Given the description of an element on the screen output the (x, y) to click on. 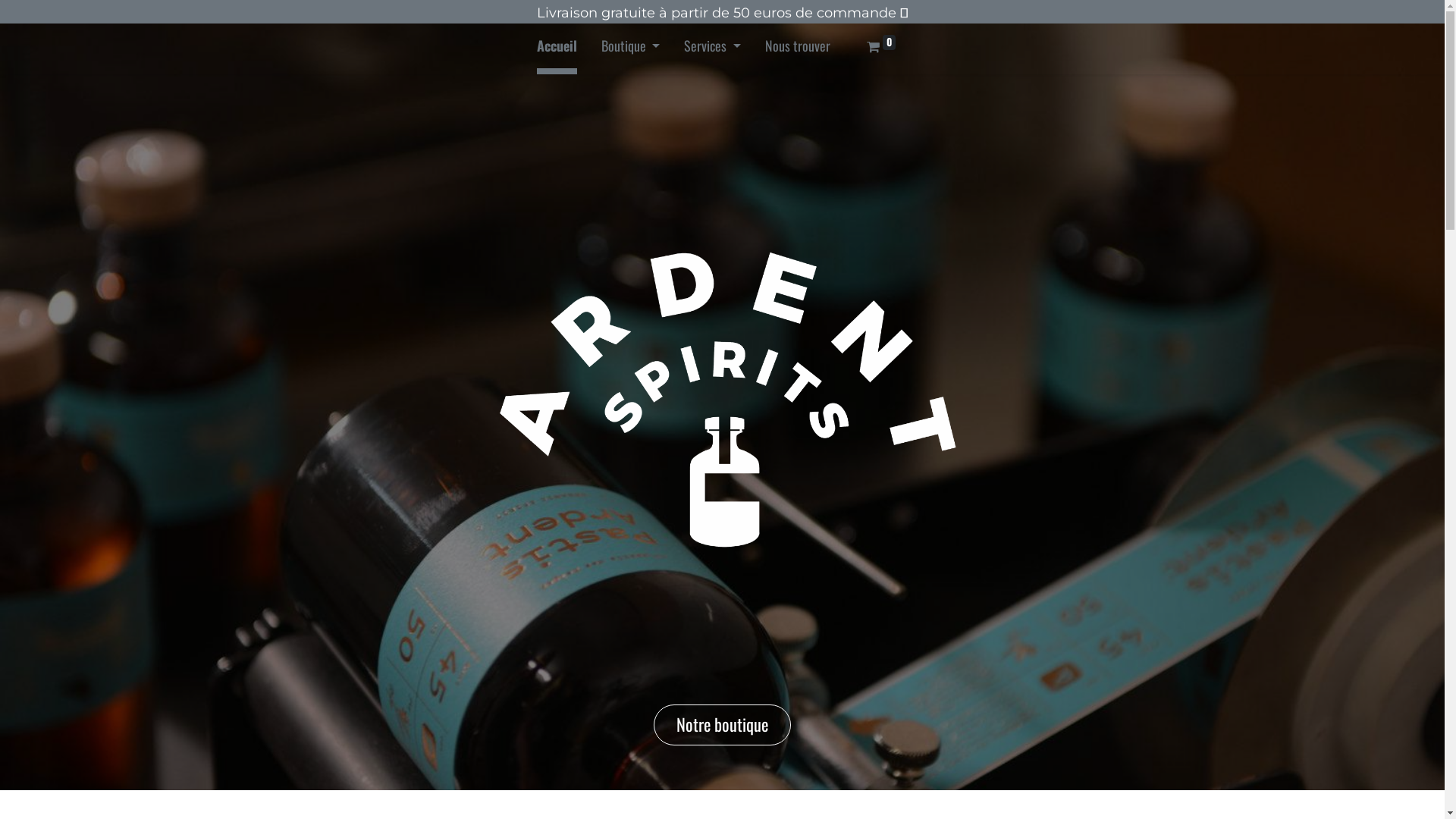
Notre boutique Element type: text (721, 725)
0 Element type: text (881, 48)
Services Element type: text (712, 48)
Accueil Element type: text (556, 48)
Boutique Element type: text (630, 48)
Nous trouver Element type: text (797, 48)
